Given the description of an element on the screen output the (x, y) to click on. 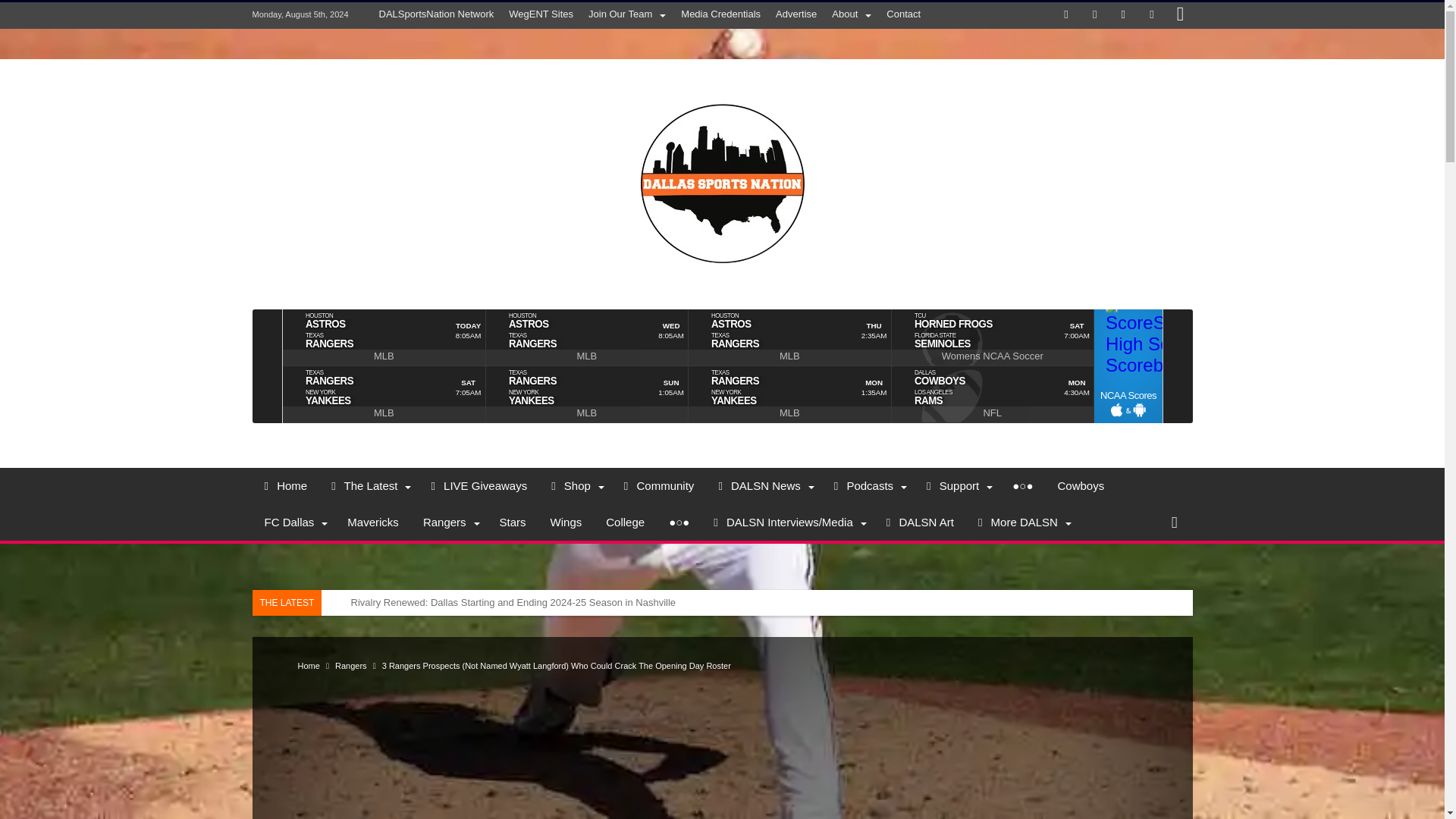
Media Credentials (720, 14)
Youtube (1151, 15)
instagram (1179, 15)
DALSportsNation Network (436, 14)
Home (284, 485)
LIVE Giveaways (478, 485)
Dallas Sports Nation (721, 81)
Join Our Team (626, 14)
The Latest (368, 485)
Community (658, 485)
Shop (574, 485)
Twitter (1094, 15)
LinkedIn (1122, 15)
Support (957, 485)
WegENT Sites (540, 14)
